Given the description of an element on the screen output the (x, y) to click on. 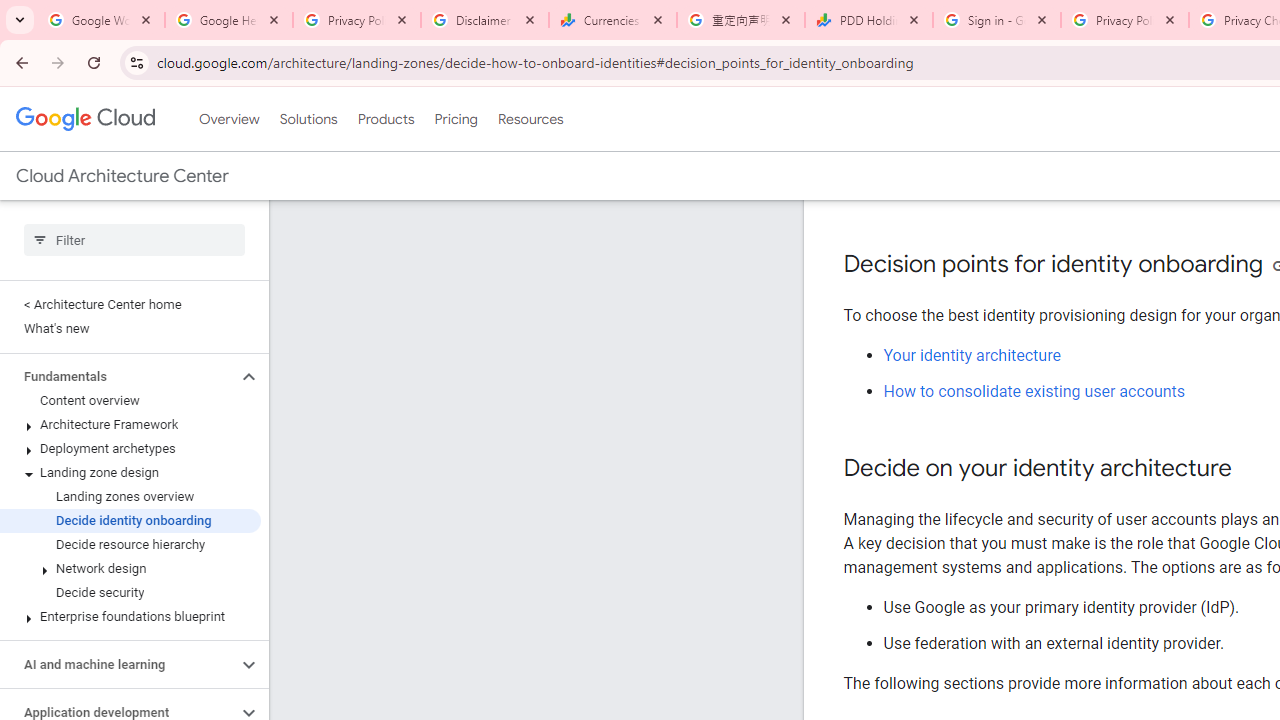
Currencies - Google Finance (613, 20)
Landing zone design (130, 472)
Content overview (130, 400)
Fundamentals (118, 376)
Resources (530, 119)
Pricing (455, 119)
AI and machine learning (118, 664)
Decide identity onboarding (130, 520)
Landing zones overview (130, 497)
